Given the description of an element on the screen output the (x, y) to click on. 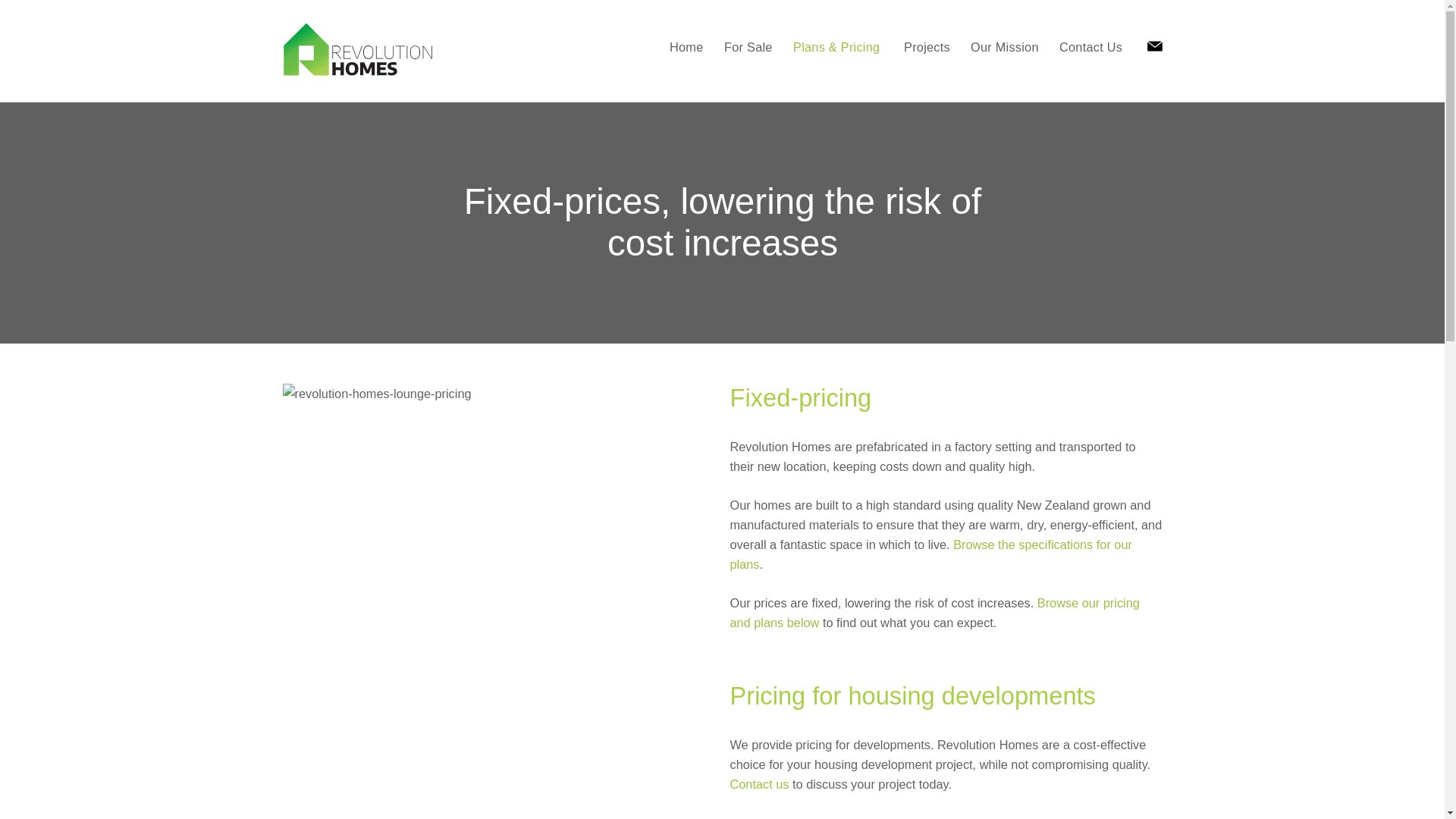
Back to Revolution Homes home page (357, 48)
Contact us (759, 784)
Browse our pricing and plans below (933, 612)
Contact Us (1095, 48)
Home (694, 53)
For Sale (757, 51)
Contact Revolution Homes (1154, 47)
Our Mission (1008, 48)
Browse the specifications for our plans (930, 553)
Projects (930, 48)
